Given the description of an element on the screen output the (x, y) to click on. 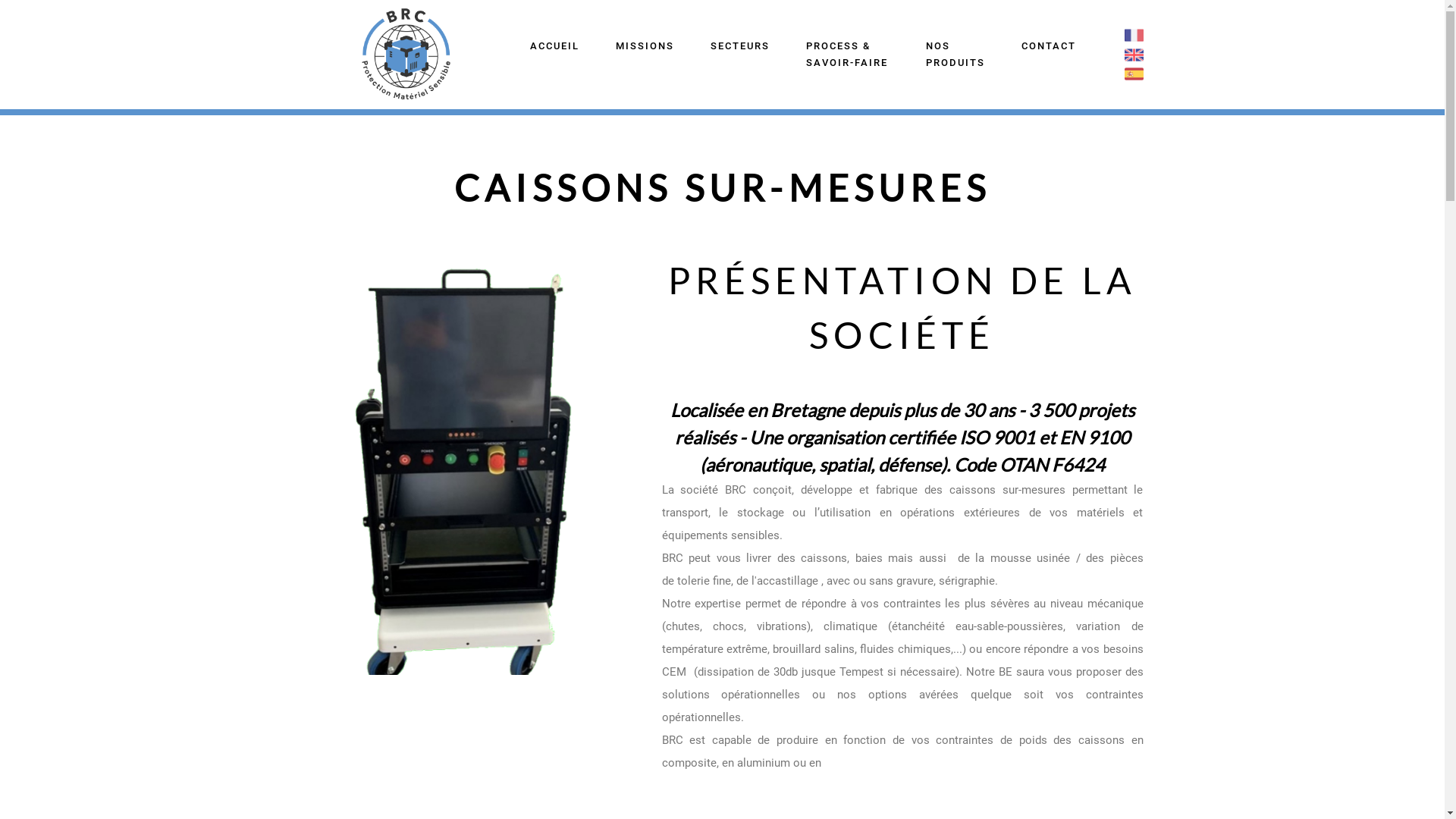
CONTACT Element type: text (1047, 45)
ACCUEIL Element type: text (554, 45)
NOS PRODUITS Element type: text (954, 54)
SECTEURS Element type: text (739, 45)
PROCESS & SAVOIR-FAIRE Element type: text (847, 54)
MISSIONS Element type: text (644, 45)
